Given the description of an element on the screen output the (x, y) to click on. 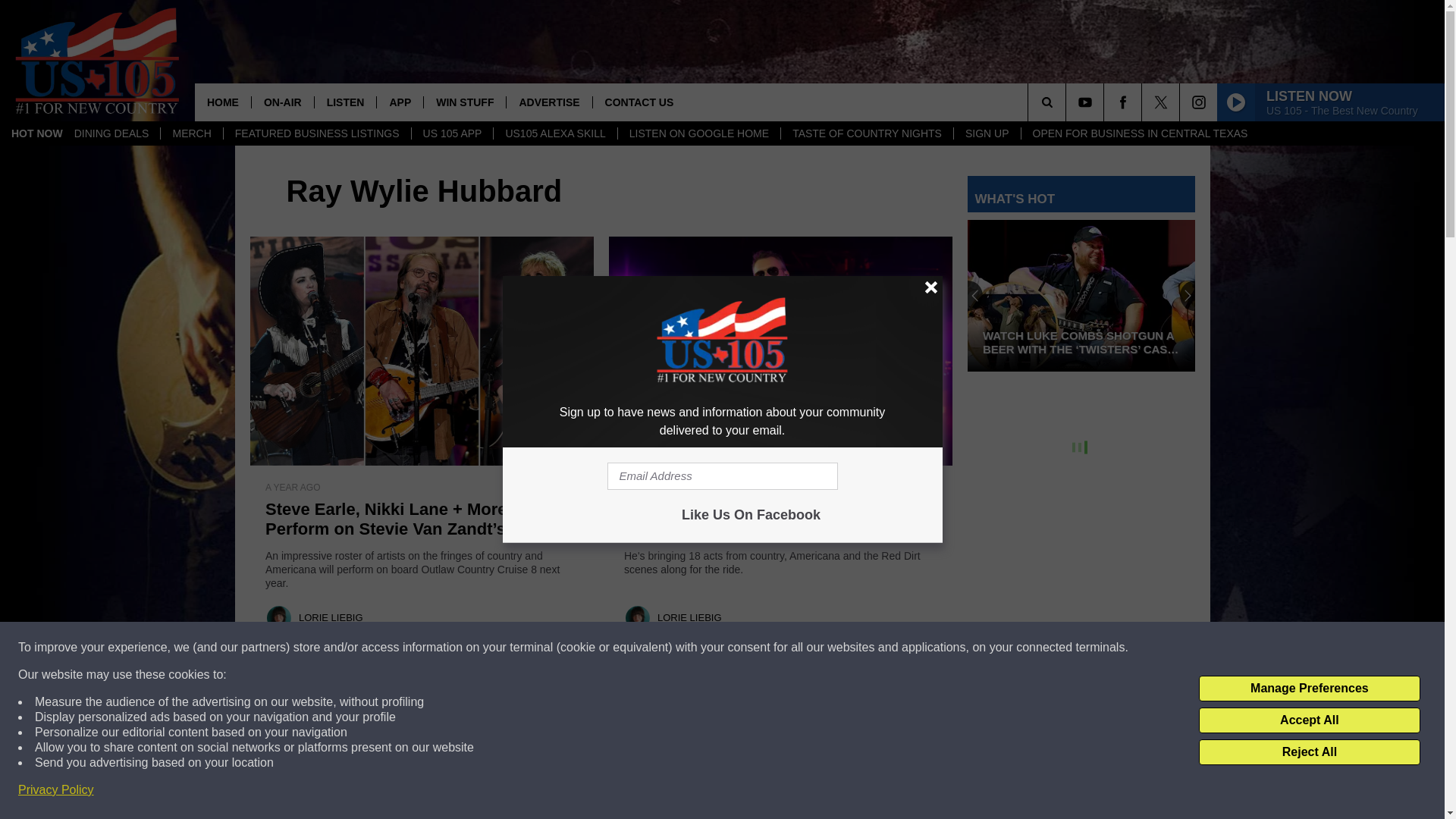
ON-AIR (282, 102)
US 105 APP (451, 133)
Reject All (1309, 751)
DINING DEALS (111, 133)
Email Address (722, 475)
APP (399, 102)
LISTEN (345, 102)
SIGN UP (986, 133)
OPEN FOR BUSINESS IN CENTRAL TEXAS (1139, 133)
SEARCH (1068, 102)
SEARCH (1068, 102)
FEATURED BUSINESS LISTINGS (316, 133)
TASTE OF COUNTRY NIGHTS (866, 133)
Accept All (1309, 720)
Privacy Policy (55, 789)
